Given the description of an element on the screen output the (x, y) to click on. 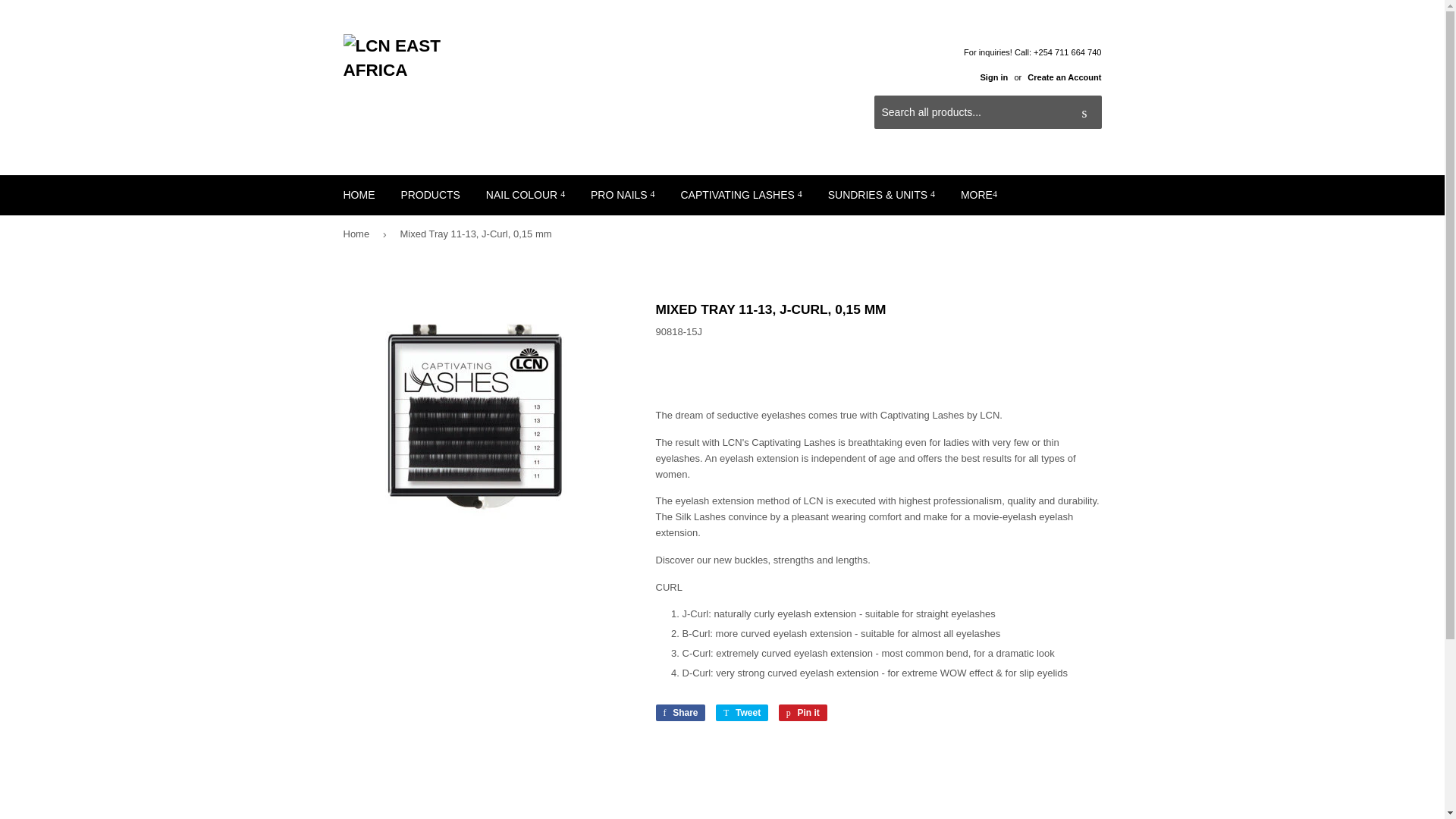
Search (1084, 112)
Create an Account (1063, 76)
Pin on Pinterest (802, 712)
Sign in (993, 76)
Share on Facebook (679, 712)
Back to the frontpage (358, 234)
Tweet on Twitter (742, 712)
